Given the description of an element on the screen output the (x, y) to click on. 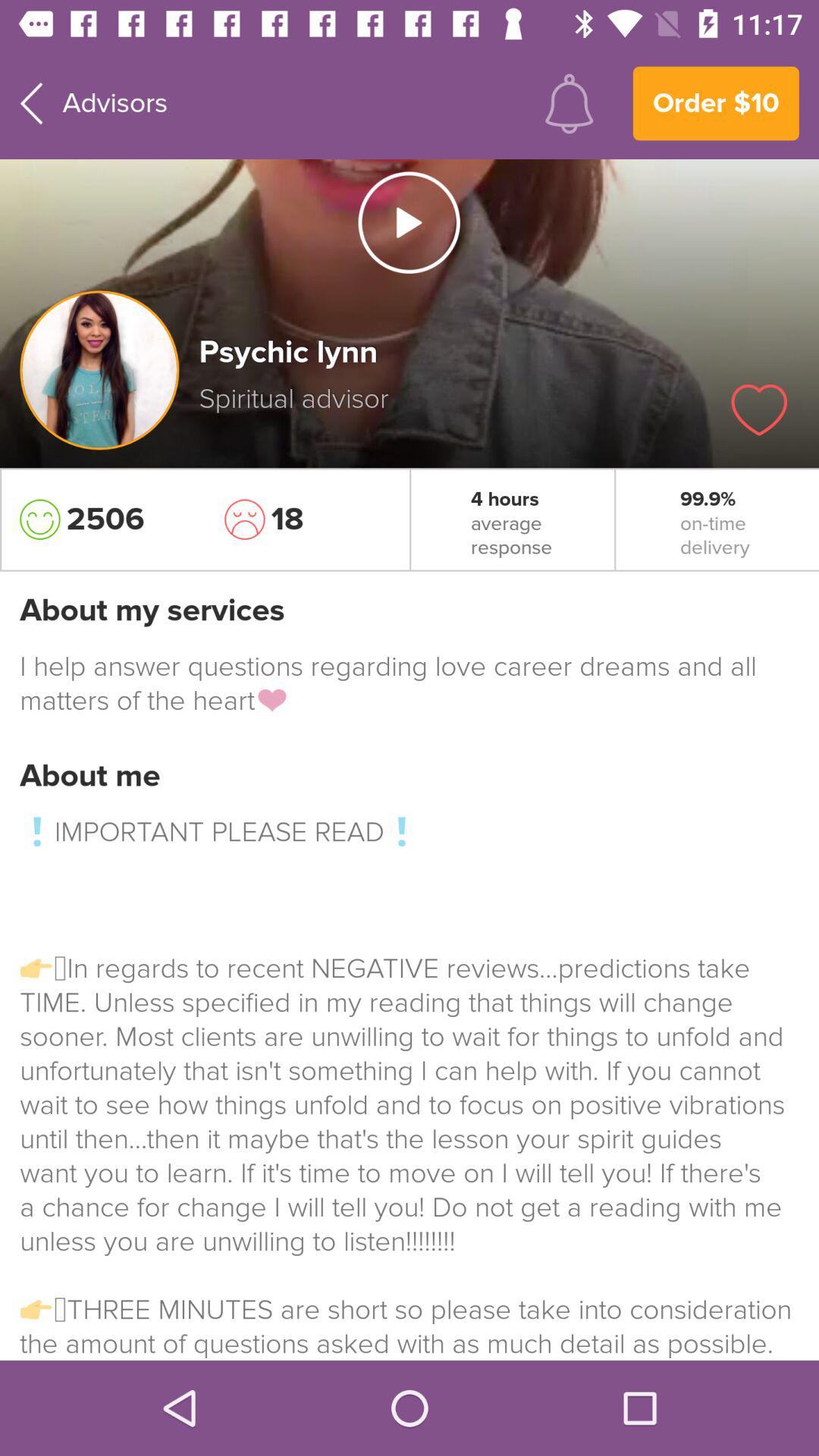
choose item to the left of the 4 hours icon (306, 519)
